Given the description of an element on the screen output the (x, y) to click on. 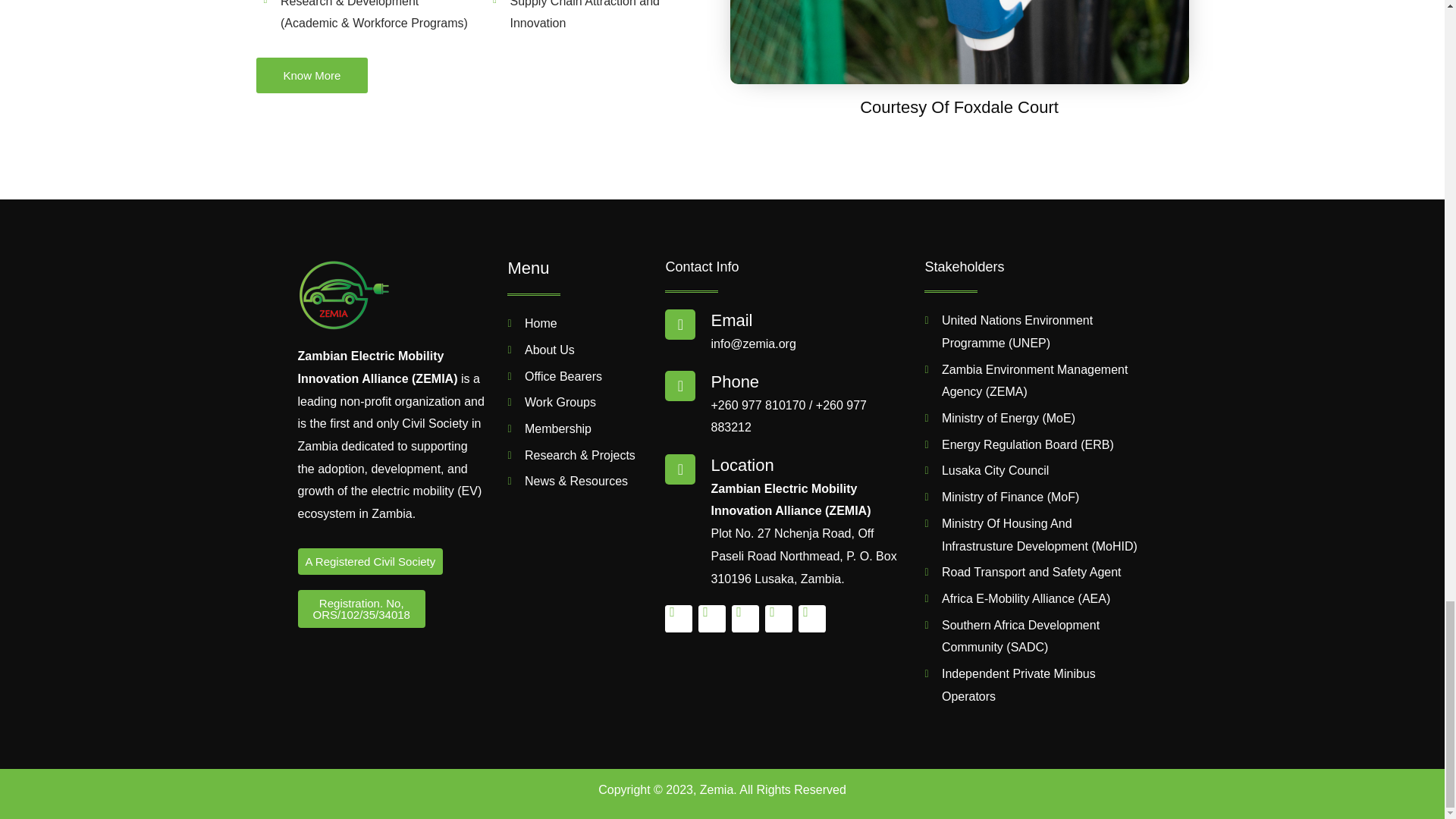
A Registered Civil Society (369, 560)
Home (577, 323)
About Us (577, 350)
Know More (312, 75)
Office Bearers (577, 376)
